Given the description of an element on the screen output the (x, y) to click on. 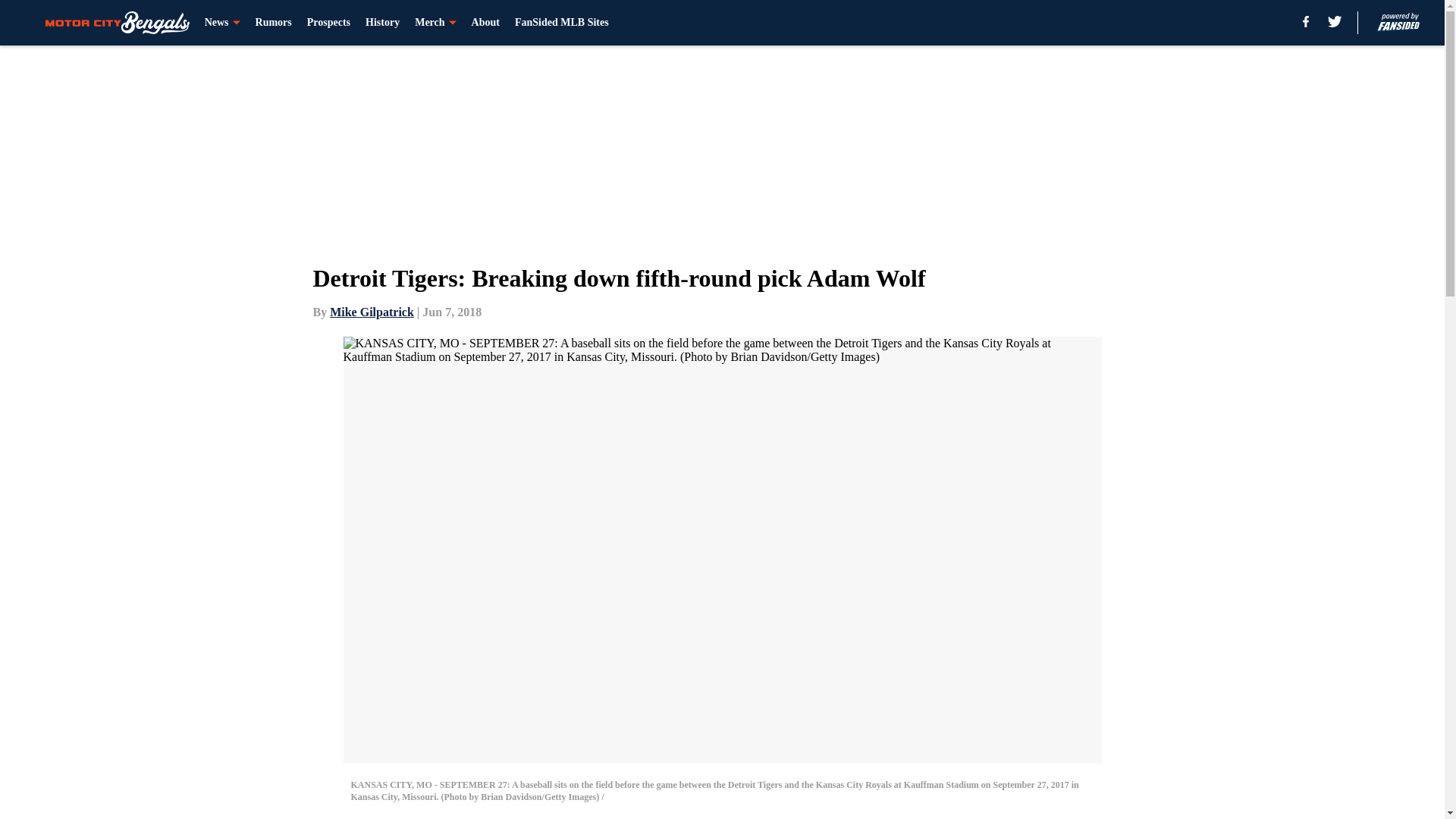
History (381, 22)
Rumors (274, 22)
Mike Gilpatrick (371, 311)
About (485, 22)
News (222, 22)
Prospects (328, 22)
FanSided MLB Sites (561, 22)
